Given the description of an element on the screen output the (x, y) to click on. 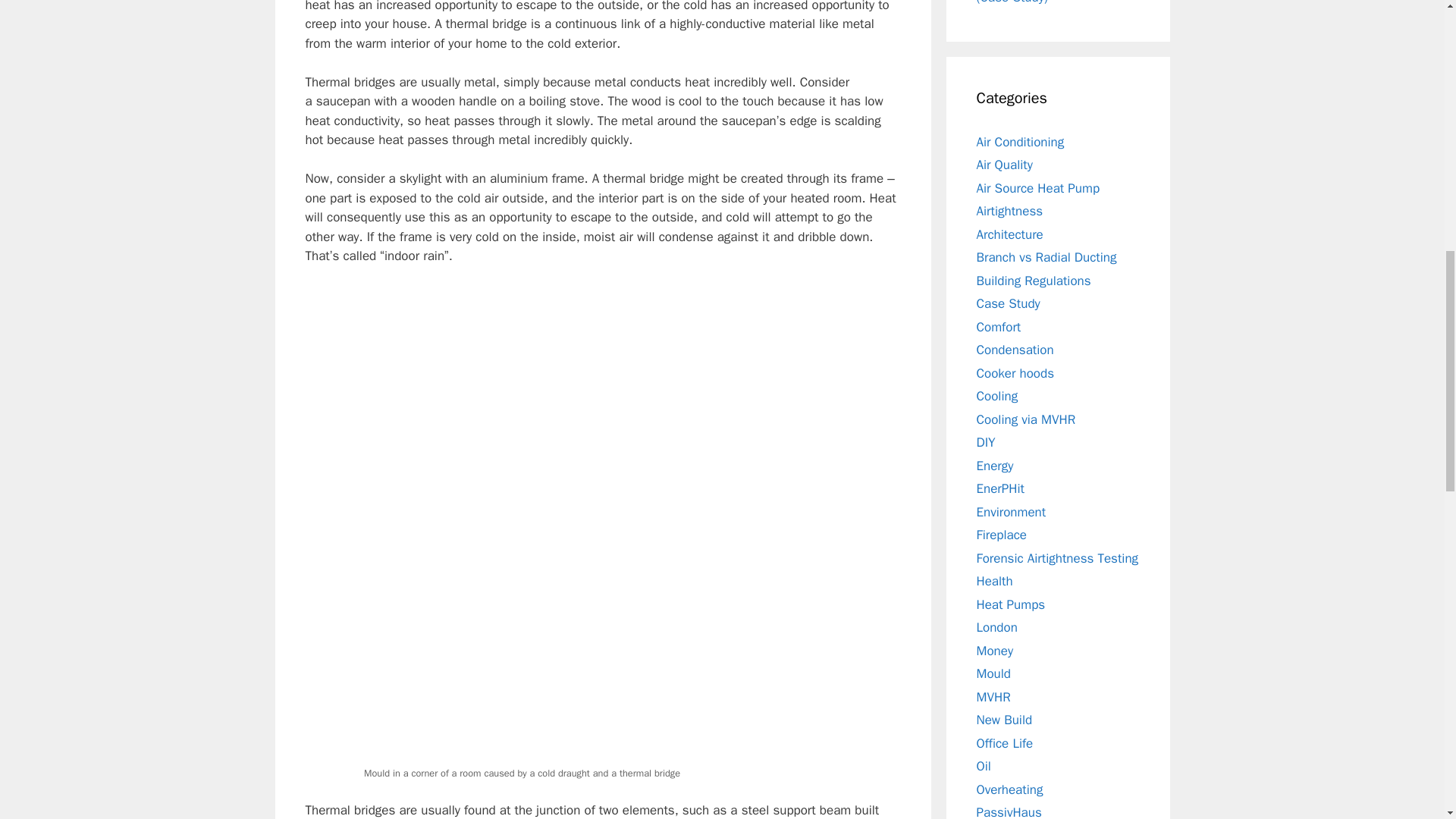
Cooker hoods (1015, 373)
Case Study (1008, 303)
Air Conditioning (1020, 141)
Branch vs Radial Ducting (1046, 257)
Building Regulations (1033, 280)
Air Source Heat Pump (1038, 188)
Environment (1011, 511)
Comfort (999, 326)
Cooling via MVHR (1025, 418)
Air Quality (1004, 164)
